Given the description of an element on the screen output the (x, y) to click on. 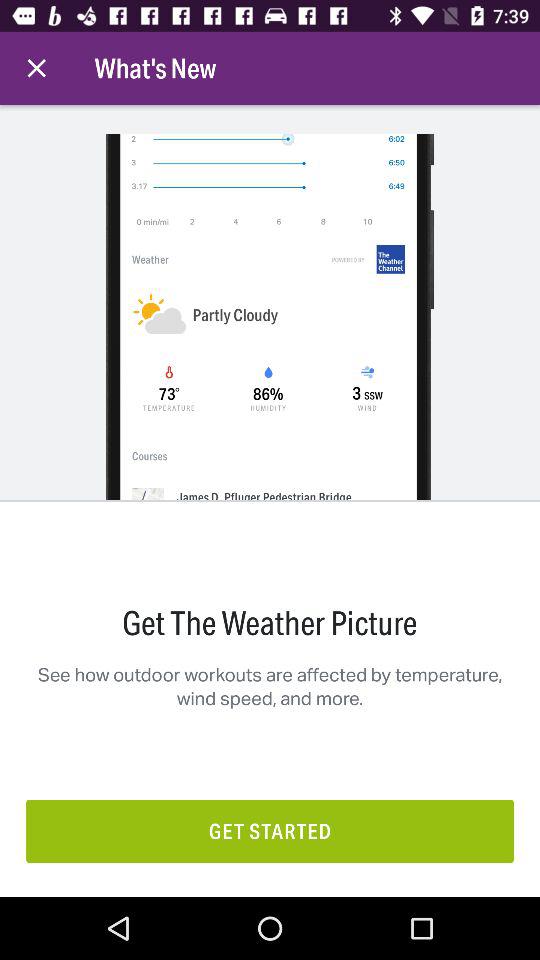
select icon to the left of what's new item (36, 68)
